Given the description of an element on the screen output the (x, y) to click on. 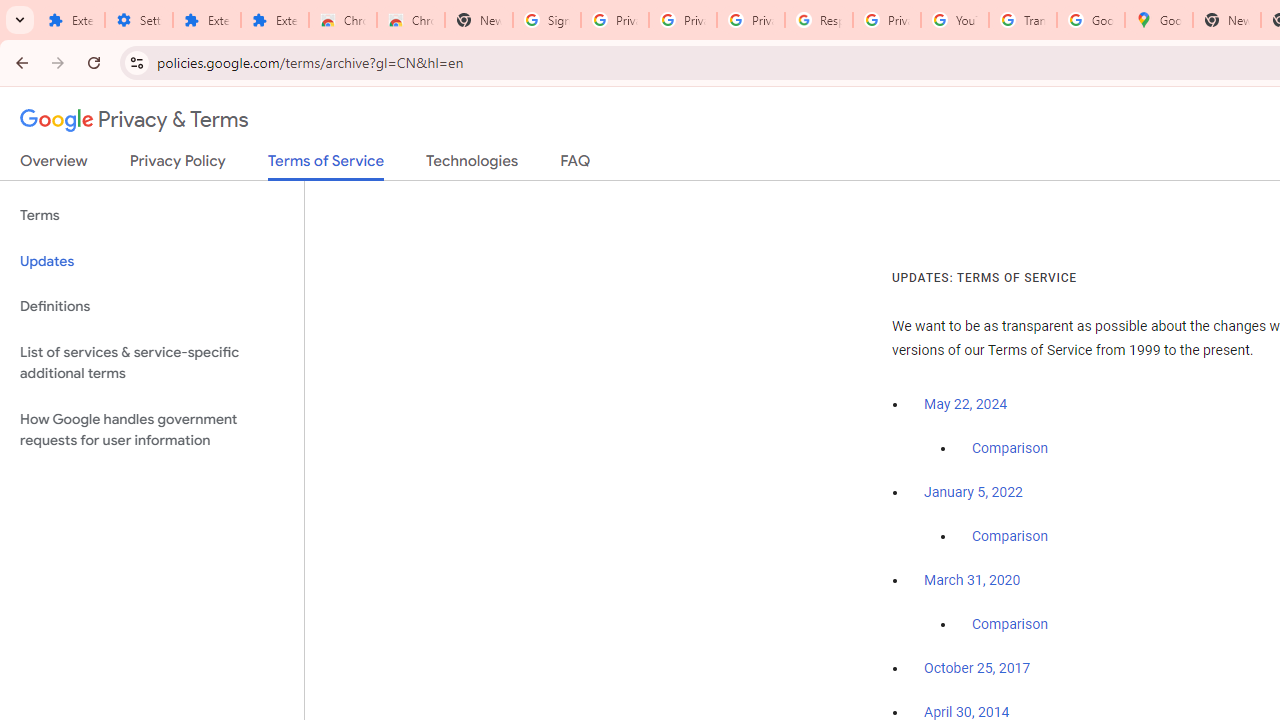
Chrome Web Store - Themes (411, 20)
New Tab (1226, 20)
YouTube (954, 20)
Comparison (1009, 625)
Chrome Web Store (342, 20)
Settings (138, 20)
How Google handles government requests for user information (152, 429)
